Given the description of an element on the screen output the (x, y) to click on. 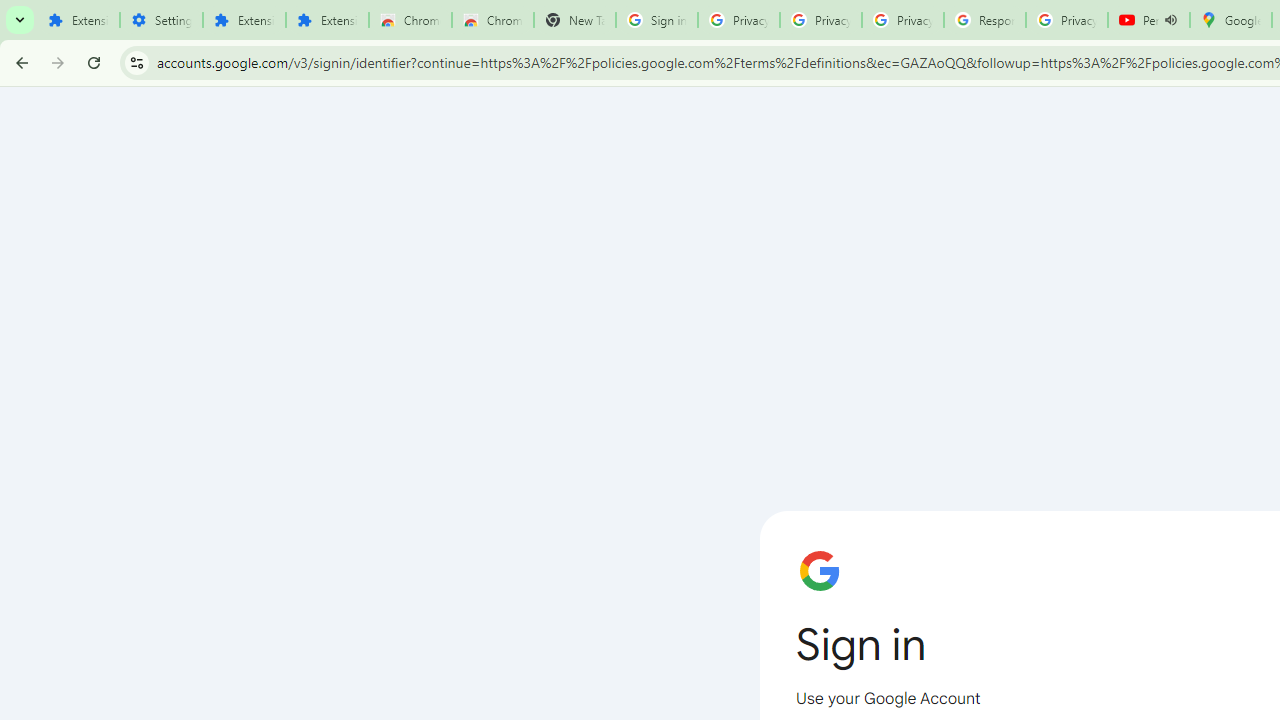
Settings (161, 20)
Mute tab (1170, 20)
New Tab (574, 20)
Chrome Web Store - Themes (492, 20)
